Given the description of an element on the screen output the (x, y) to click on. 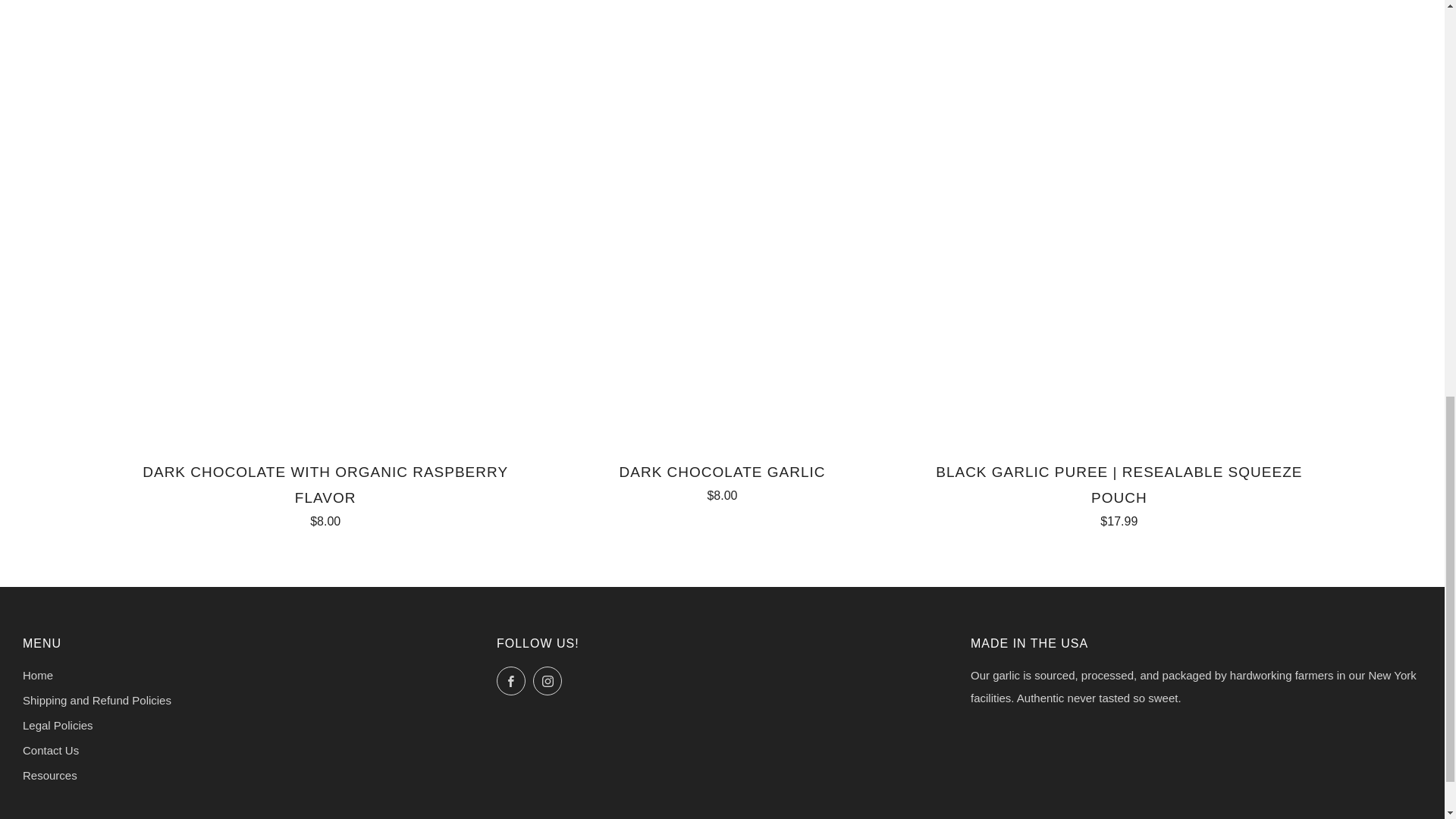
Dark Chocolate Garlic (721, 480)
Dark Chocolate with Organic Raspberry Flavor (325, 493)
